Given the description of an element on the screen output the (x, y) to click on. 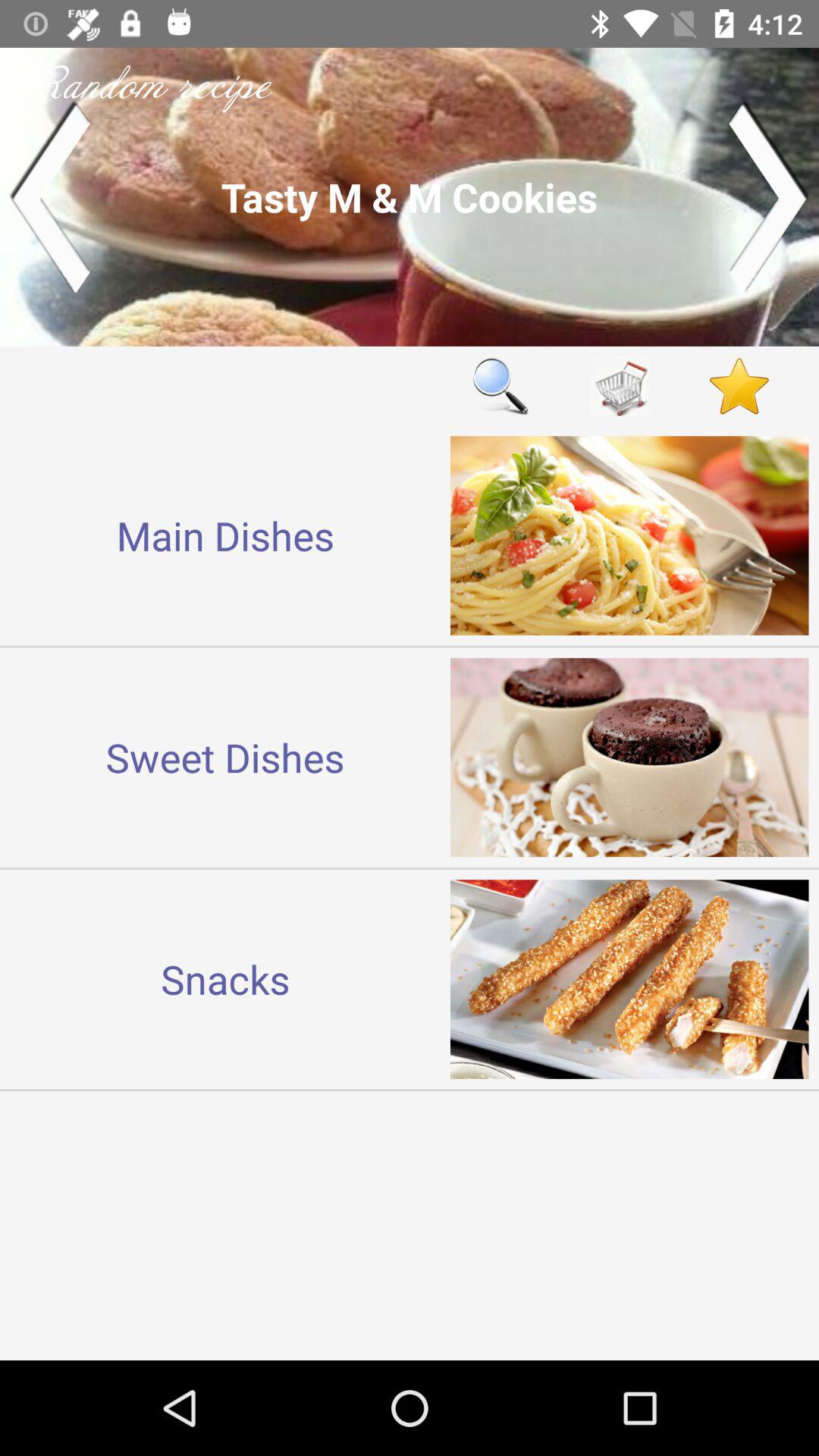
jump until the main dishes item (225, 534)
